Given the description of an element on the screen output the (x, y) to click on. 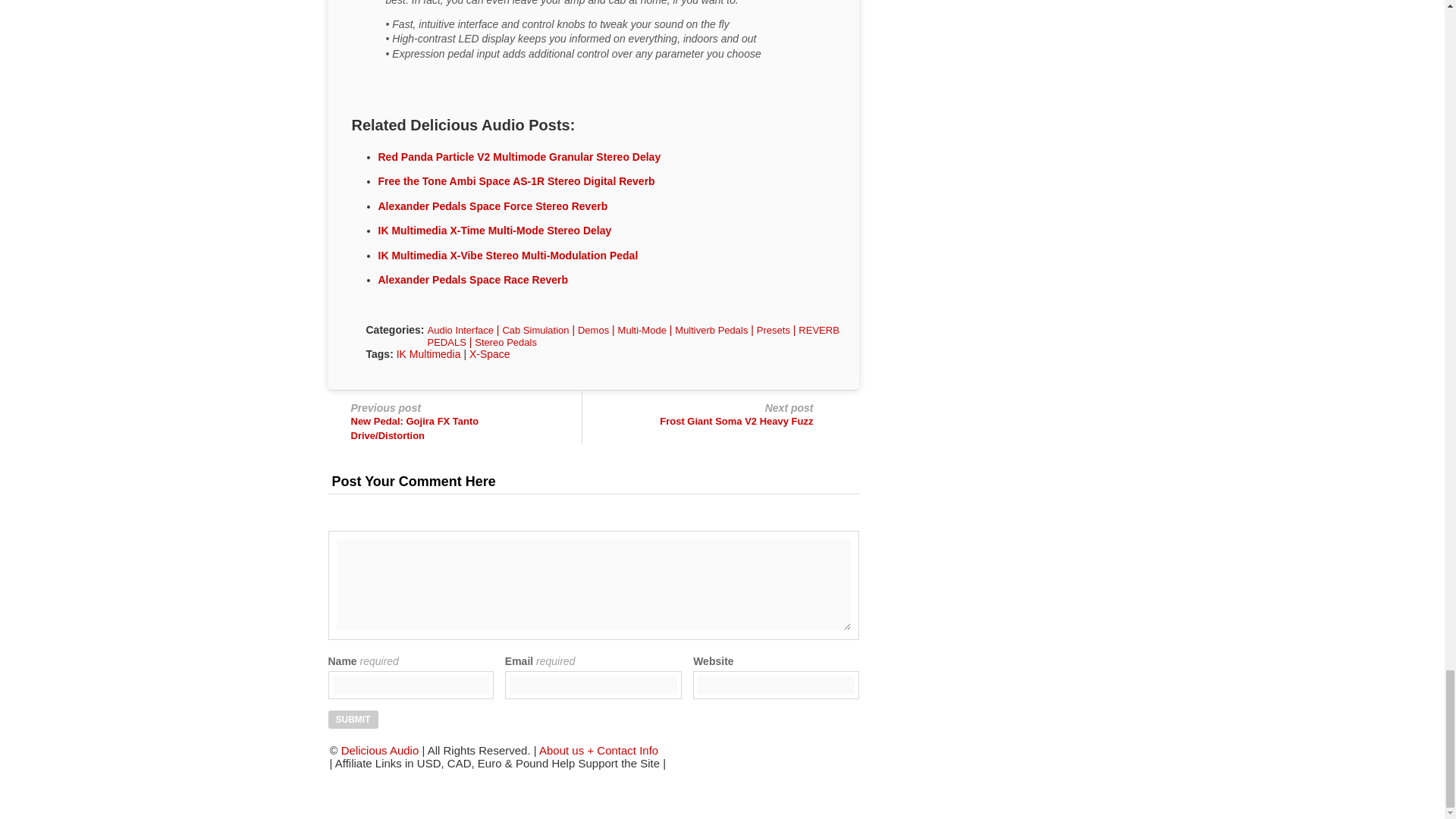
View all posts tagged IK Multimedia (428, 354)
View all posts tagged X-Space (489, 354)
